Given the description of an element on the screen output the (x, y) to click on. 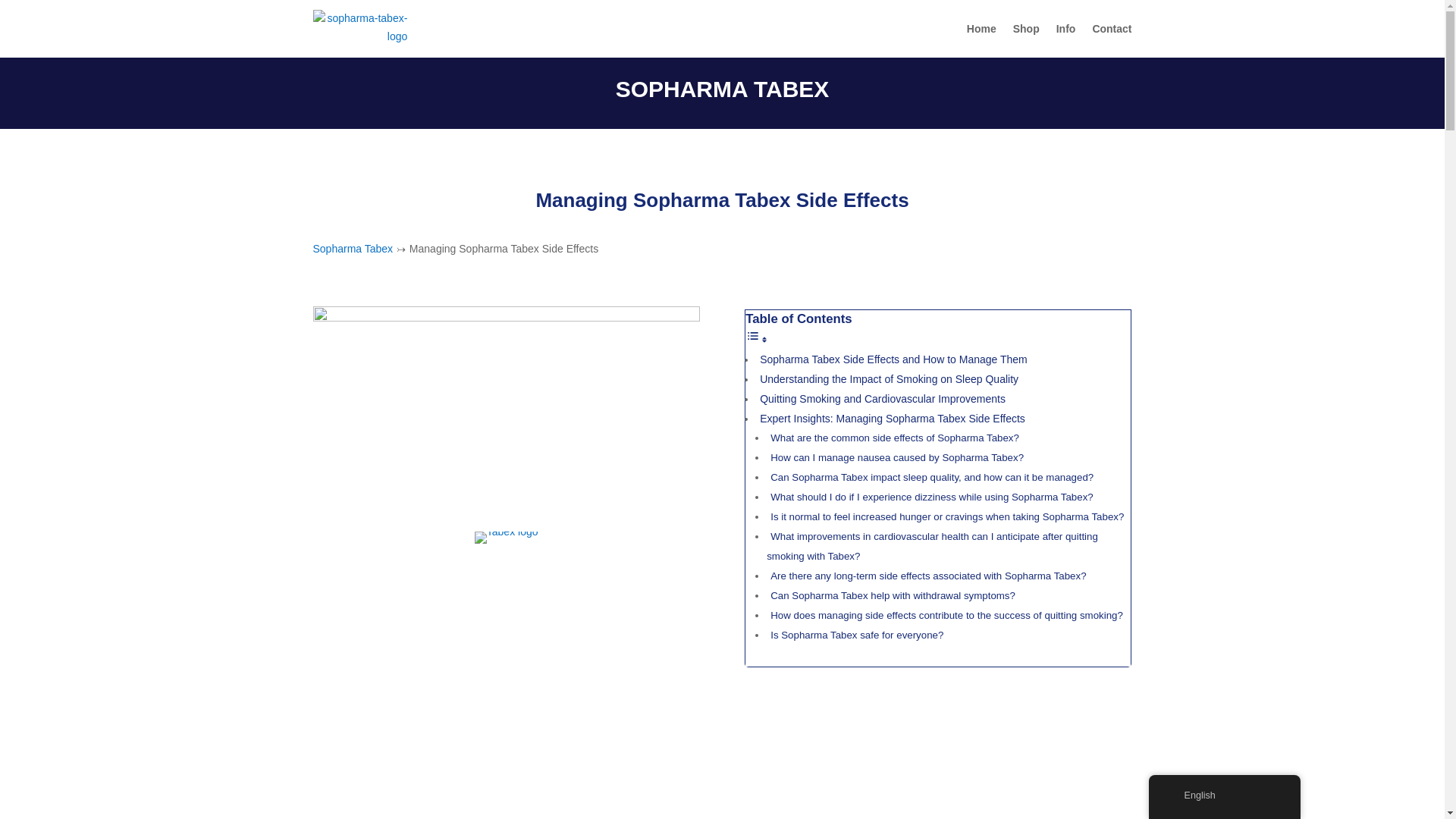
Can Sopharma Tabex help with withdrawal symptoms? (893, 595)
Is Sopharma Tabex safe for everyone? (857, 634)
Sopharma Tabex Side Effects and How to Manage Them (892, 359)
Tabex logo (506, 537)
